Given the description of an element on the screen output the (x, y) to click on. 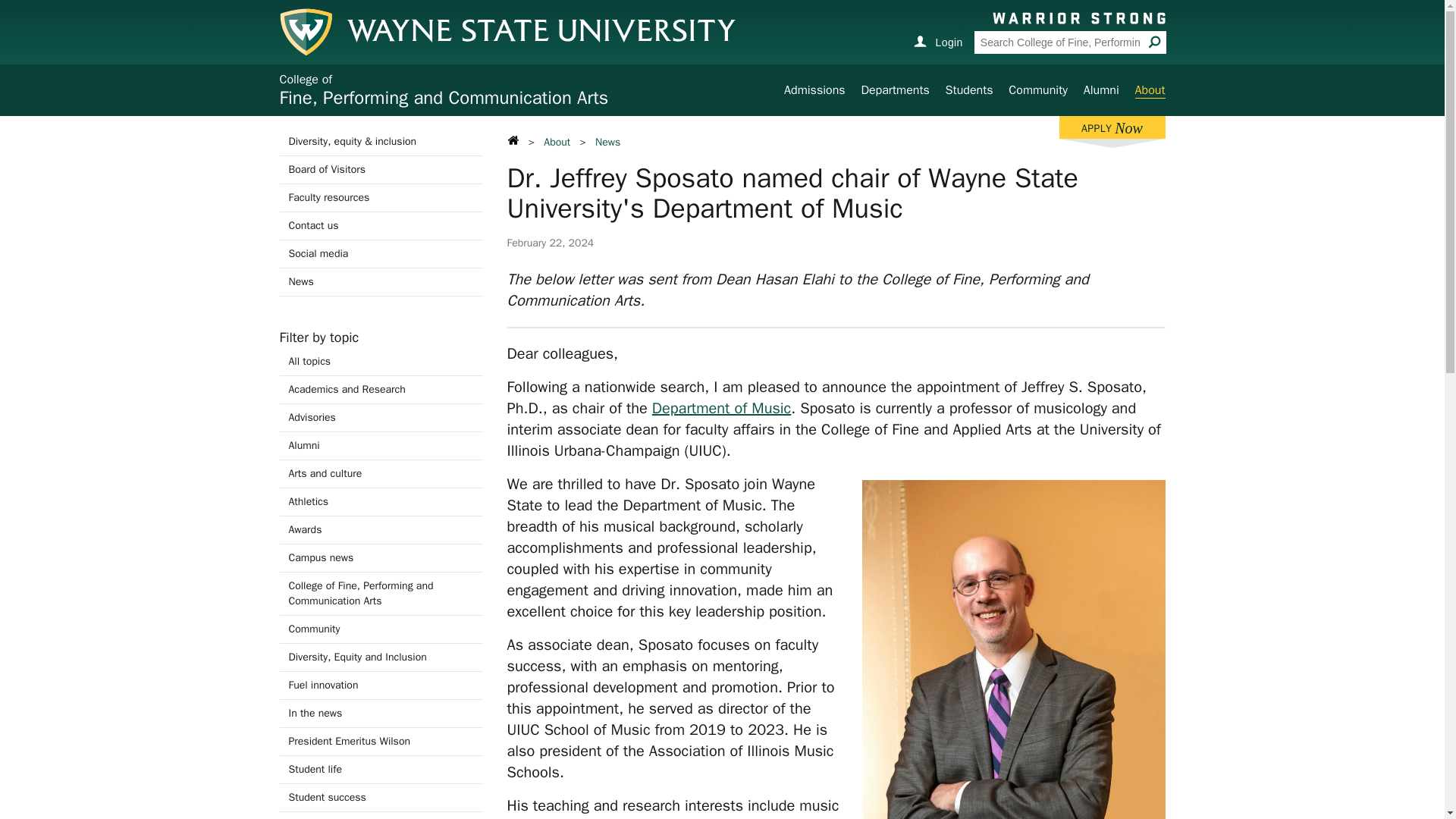
About (443, 89)
Board of Visitors (1111, 127)
Academics and Research (1150, 90)
Social media (380, 169)
Community (380, 389)
All topics (380, 253)
Campus news (1038, 89)
Arts and culture (380, 361)
Faculty resources (380, 557)
Alumni (380, 473)
Admissions (380, 197)
Alumni (380, 445)
Athletics (814, 89)
